Given the description of an element on the screen output the (x, y) to click on. 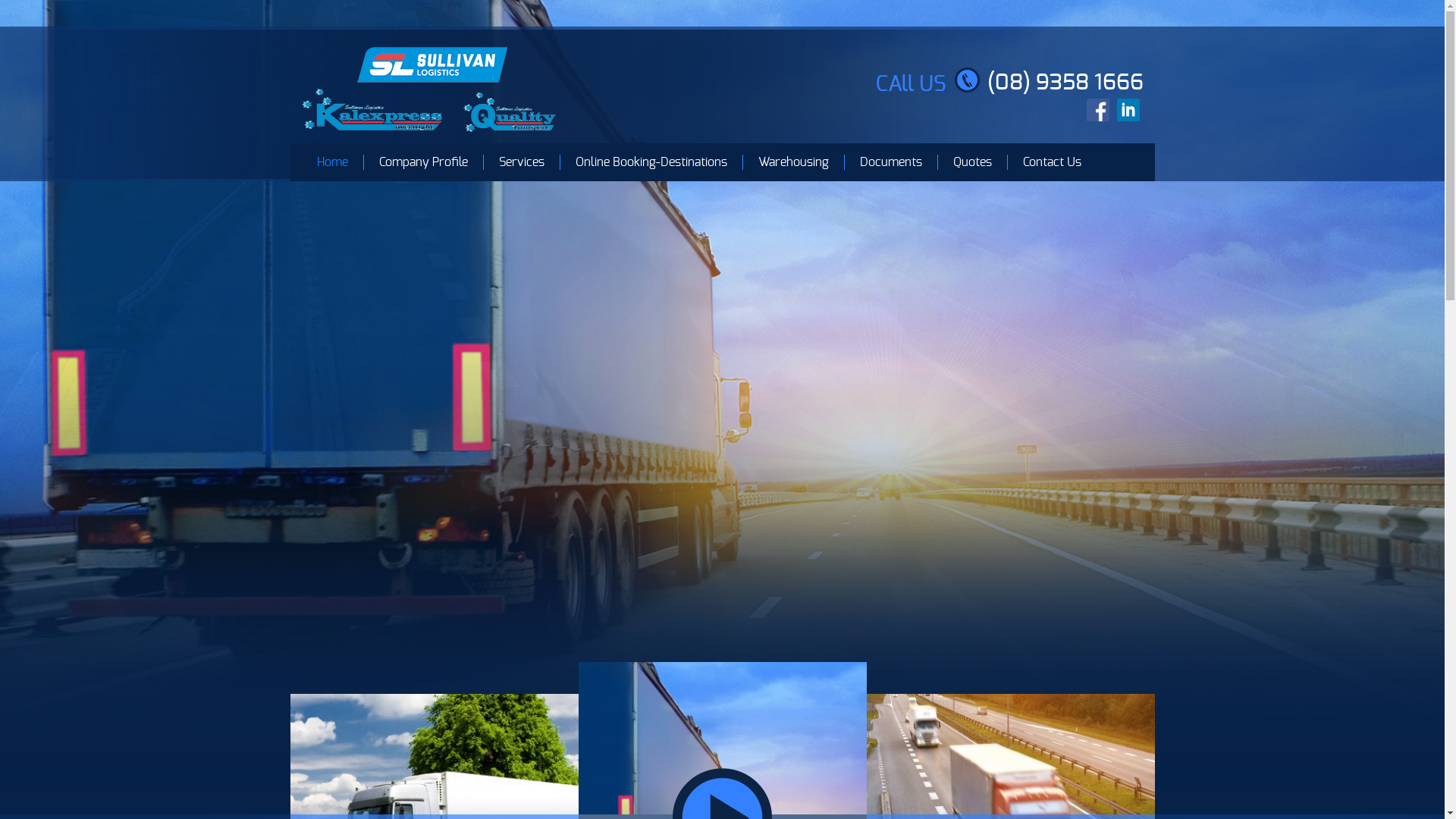
Quotes Element type: text (972, 161)
Documents Element type: text (889, 161)
Home Element type: text (332, 161)
Contact Us Element type: text (1051, 161)
(08) 9358 1666 Element type: text (1065, 83)
Company Profile Element type: text (422, 161)
Services Element type: text (520, 161)
Warehousing Element type: text (792, 161)
Online Booking-Destinations Element type: text (650, 161)
